Given the description of an element on the screen output the (x, y) to click on. 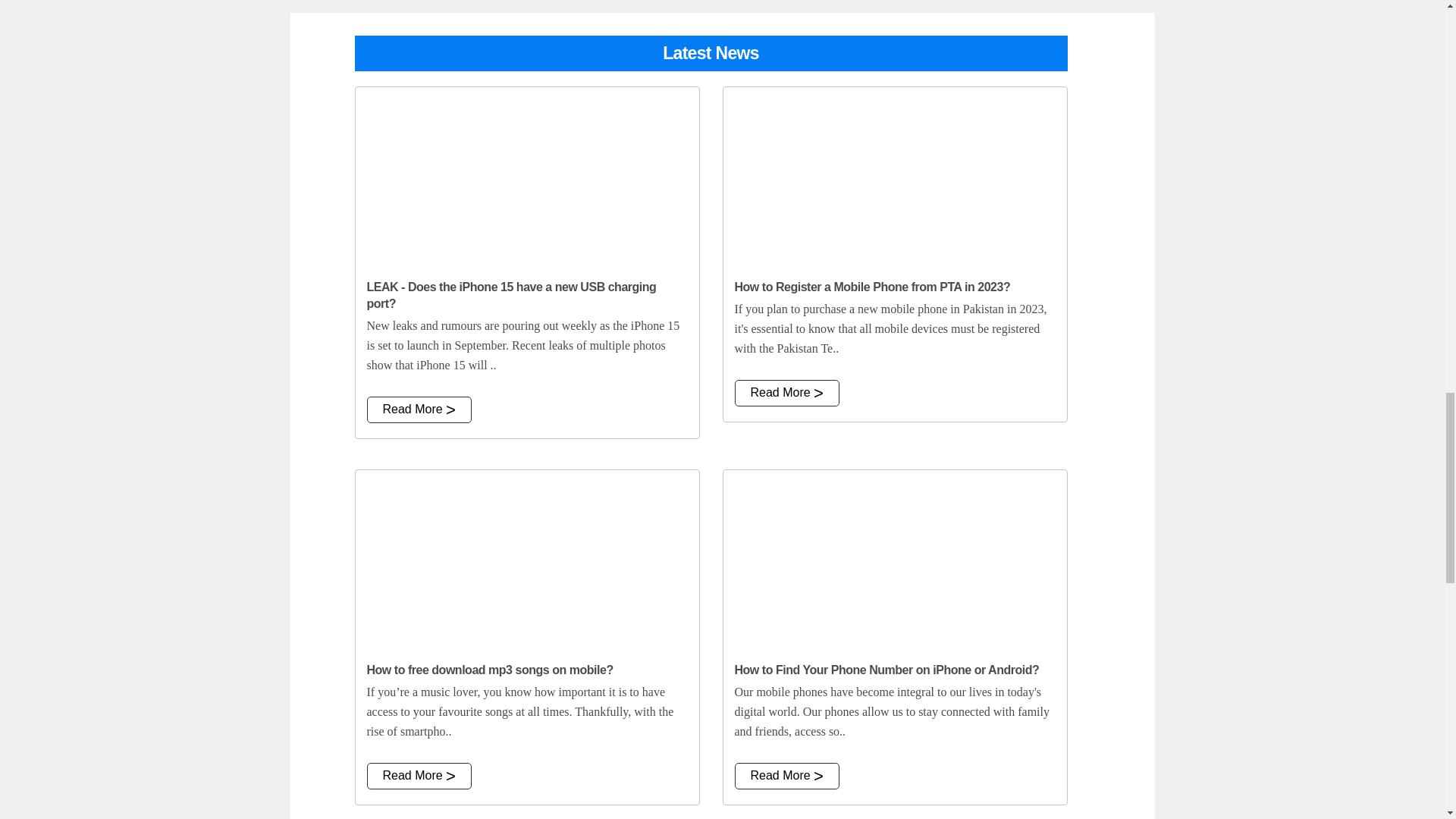
How to Register a Mobile Phone from PTA in 2023? (895, 177)
LEAK - Does the iPhone 15 have a new USB charging port? (526, 177)
How to free download mp3 songs on mobile? (526, 560)
How to Find Your Phone Number on iPhone or Android? (895, 560)
